Given the description of an element on the screen output the (x, y) to click on. 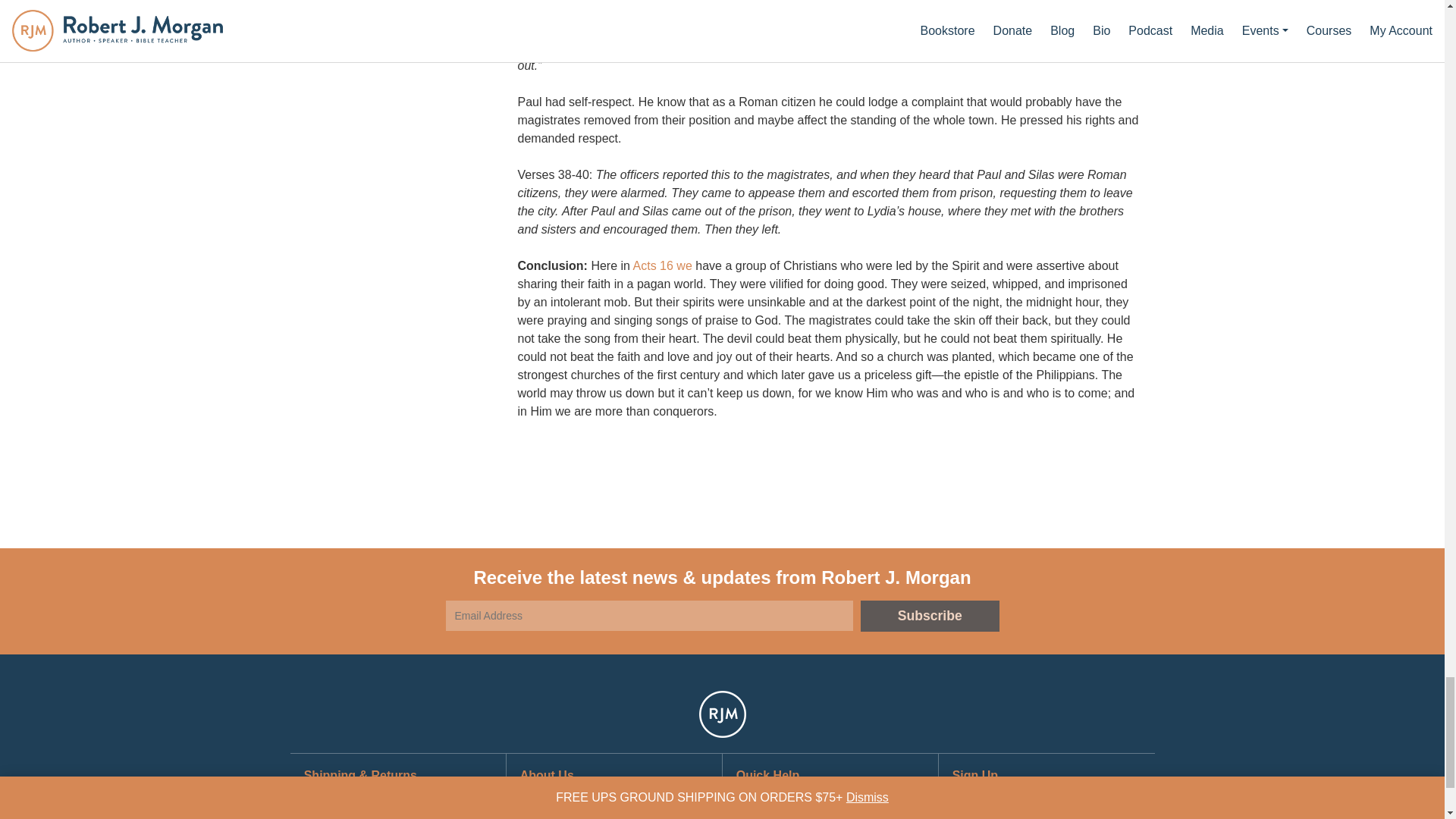
Subscribe (929, 615)
Acts 16 we (663, 265)
